Given the description of an element on the screen output the (x, y) to click on. 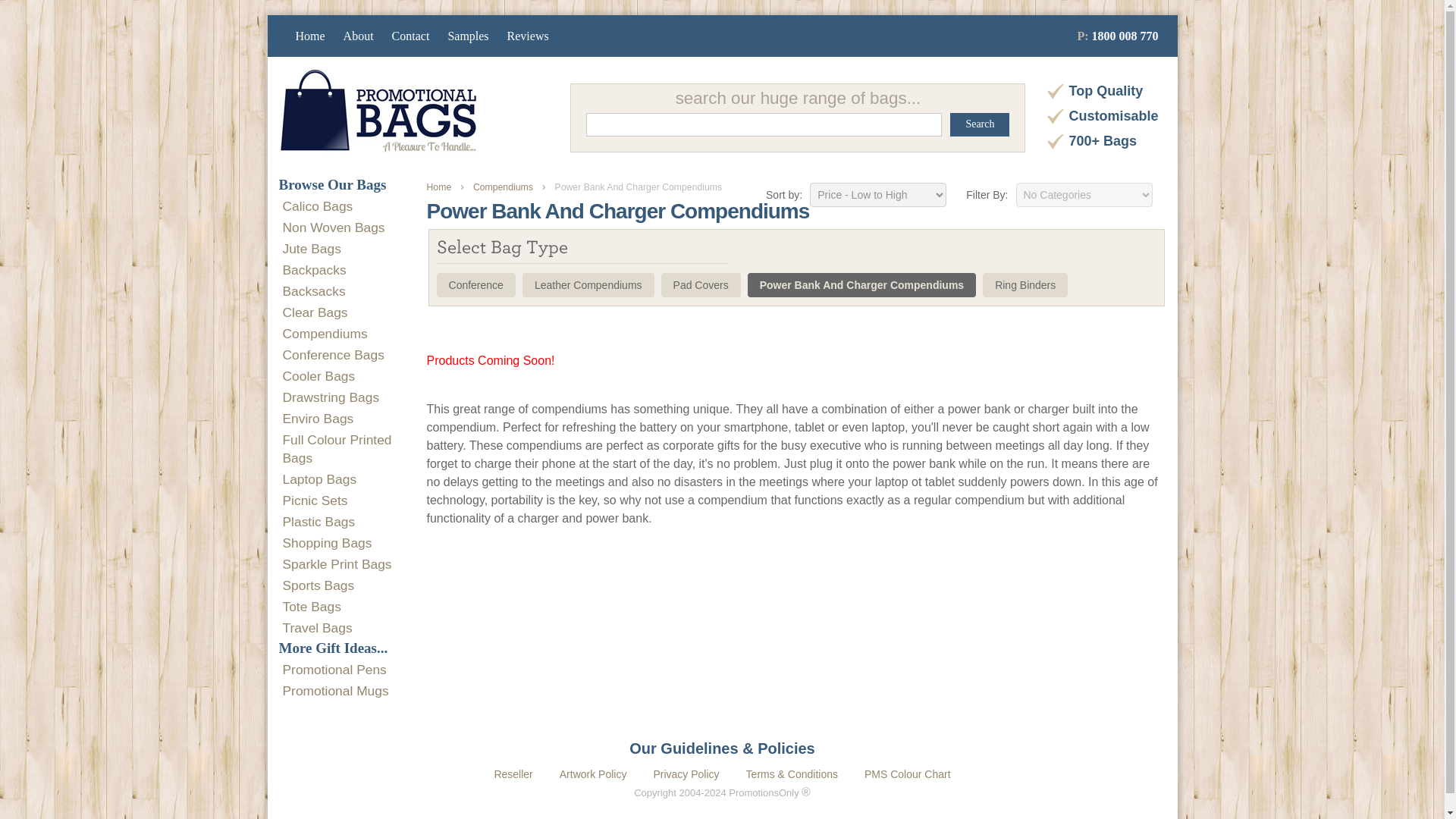
Enviro Bags (317, 418)
Travel Bags (317, 627)
Power Bank And Charger Compendiums (638, 186)
About (358, 35)
Home (309, 35)
Shopping Bags (326, 542)
Jute Bags (311, 248)
Cooler Bags (318, 376)
Plastic Bags (318, 521)
Leather Compendiums (587, 284)
Compendiums (324, 333)
Sports Bags (317, 585)
Backsacks (313, 290)
Conference Bags (333, 354)
731 (638, 186)
